Given the description of an element on the screen output the (x, y) to click on. 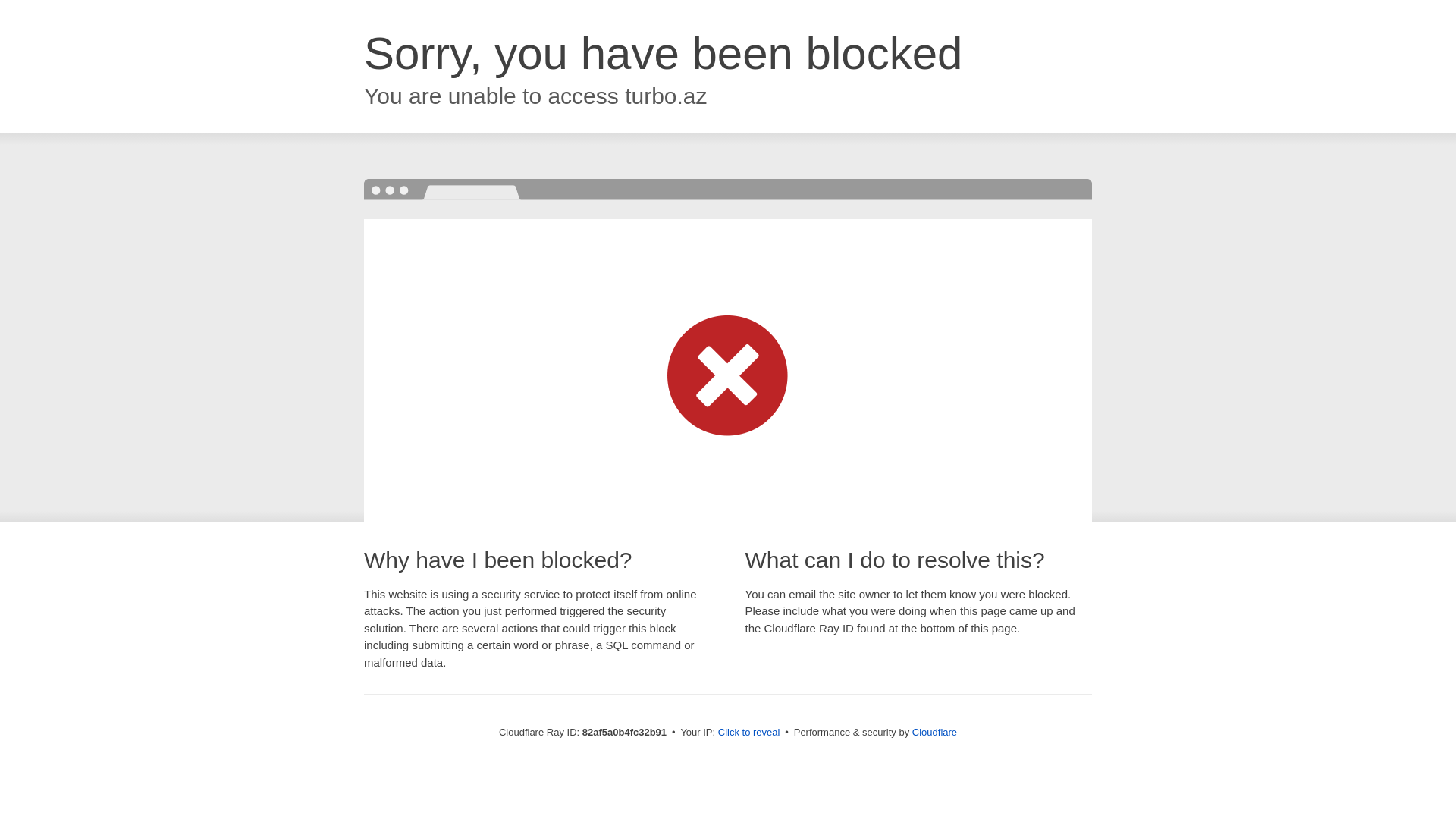
Cloudflare Element type: text (934, 731)
Click to reveal Element type: text (749, 732)
